Given the description of an element on the screen output the (x, y) to click on. 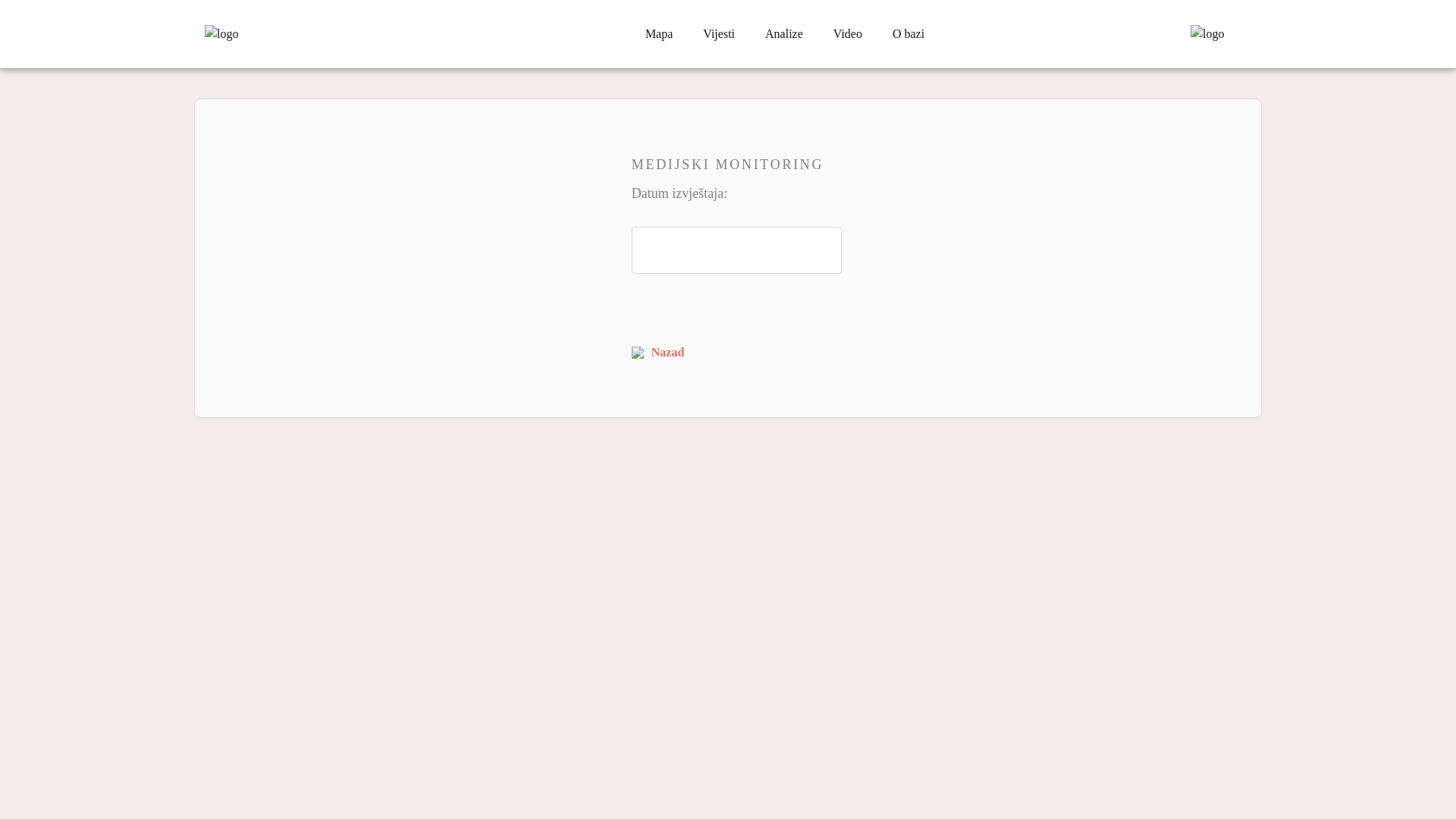
Analize Element type: text (784, 34)
Vijesti Element type: text (718, 34)
O bazi Element type: text (908, 34)
Video Element type: text (847, 34)
Nazad Element type: text (657, 352)
Mapa Element type: text (658, 34)
